Given the description of an element on the screen output the (x, y) to click on. 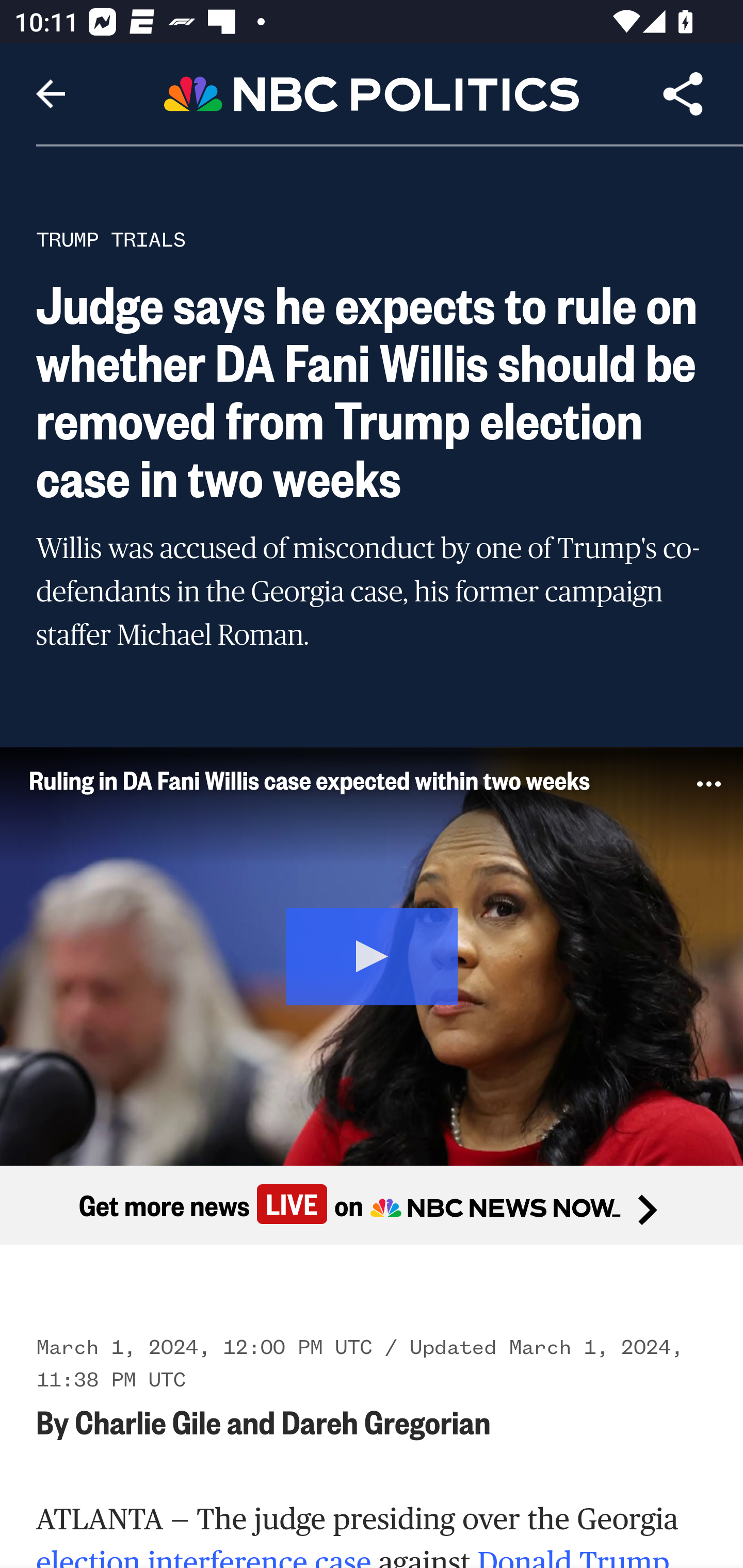
Navigate up (50, 93)
Share Article, button (683, 94)
Header, NBC Politics (371, 93)
TRUMP TRIALS (110, 239)
Video Player Unable to play media. Play   (371, 955)
Play (372, 954)
Get more news Live on Get more news Live on (371, 1203)
